Given the description of an element on the screen output the (x, y) to click on. 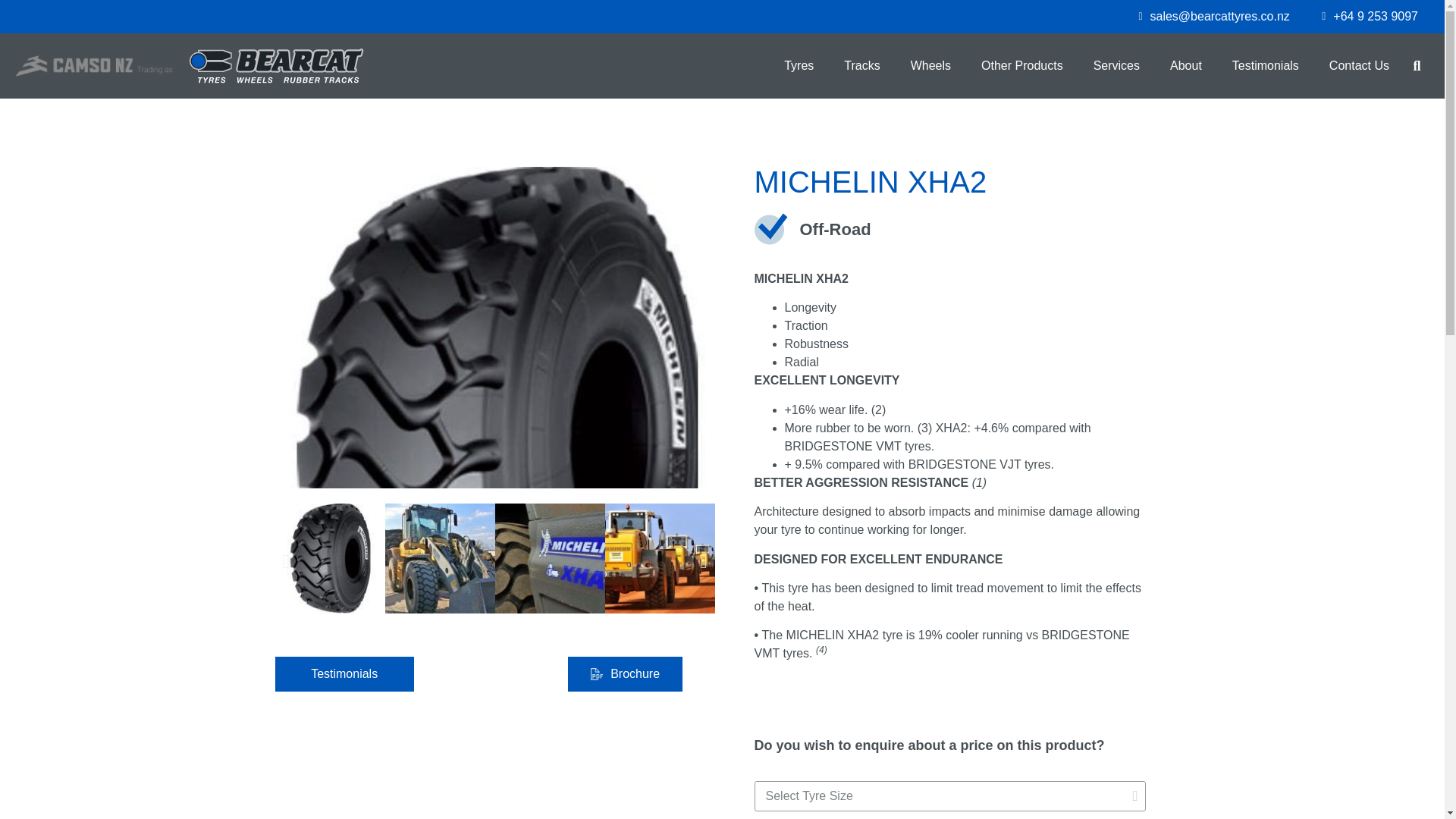
Testimonials (1265, 65)
Tracks (861, 65)
Services (1116, 65)
Other Products (1022, 65)
Tyres (798, 65)
Contact Us (1359, 65)
Wheels (930, 65)
About (1185, 65)
